Given the description of an element on the screen output the (x, y) to click on. 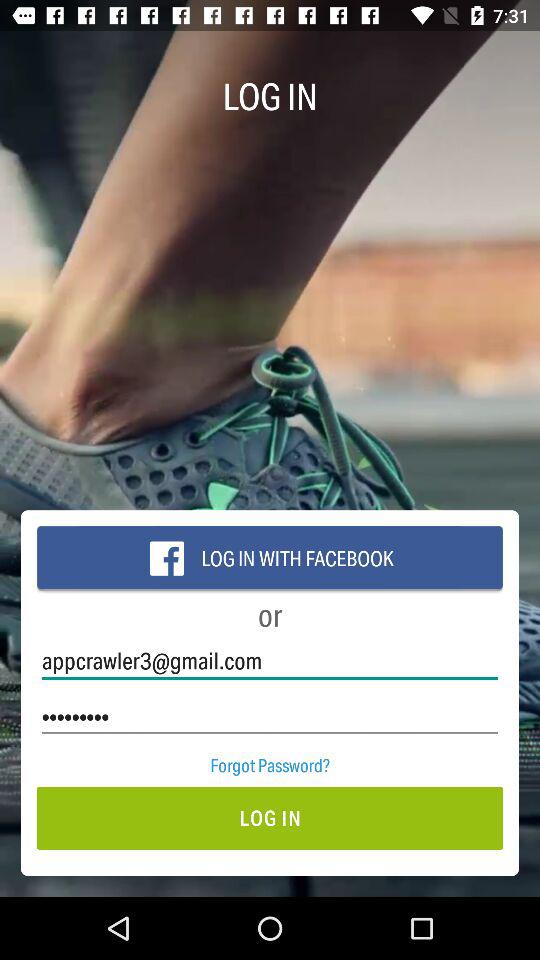
select the icon below crowd3116 (269, 764)
